Given the description of an element on the screen output the (x, y) to click on. 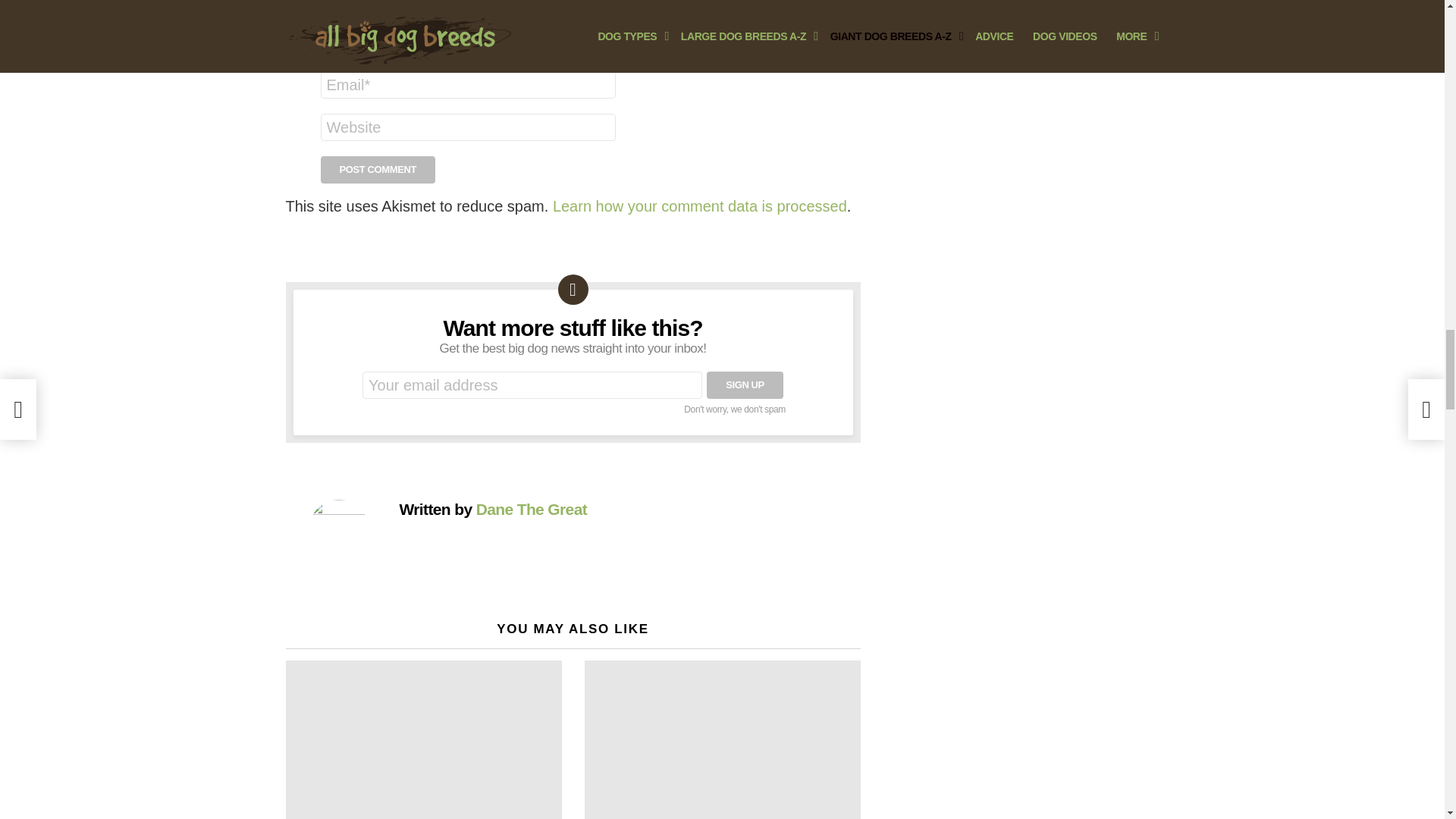
Post Comment (377, 169)
Sign up (744, 384)
